Given the description of an element on the screen output the (x, y) to click on. 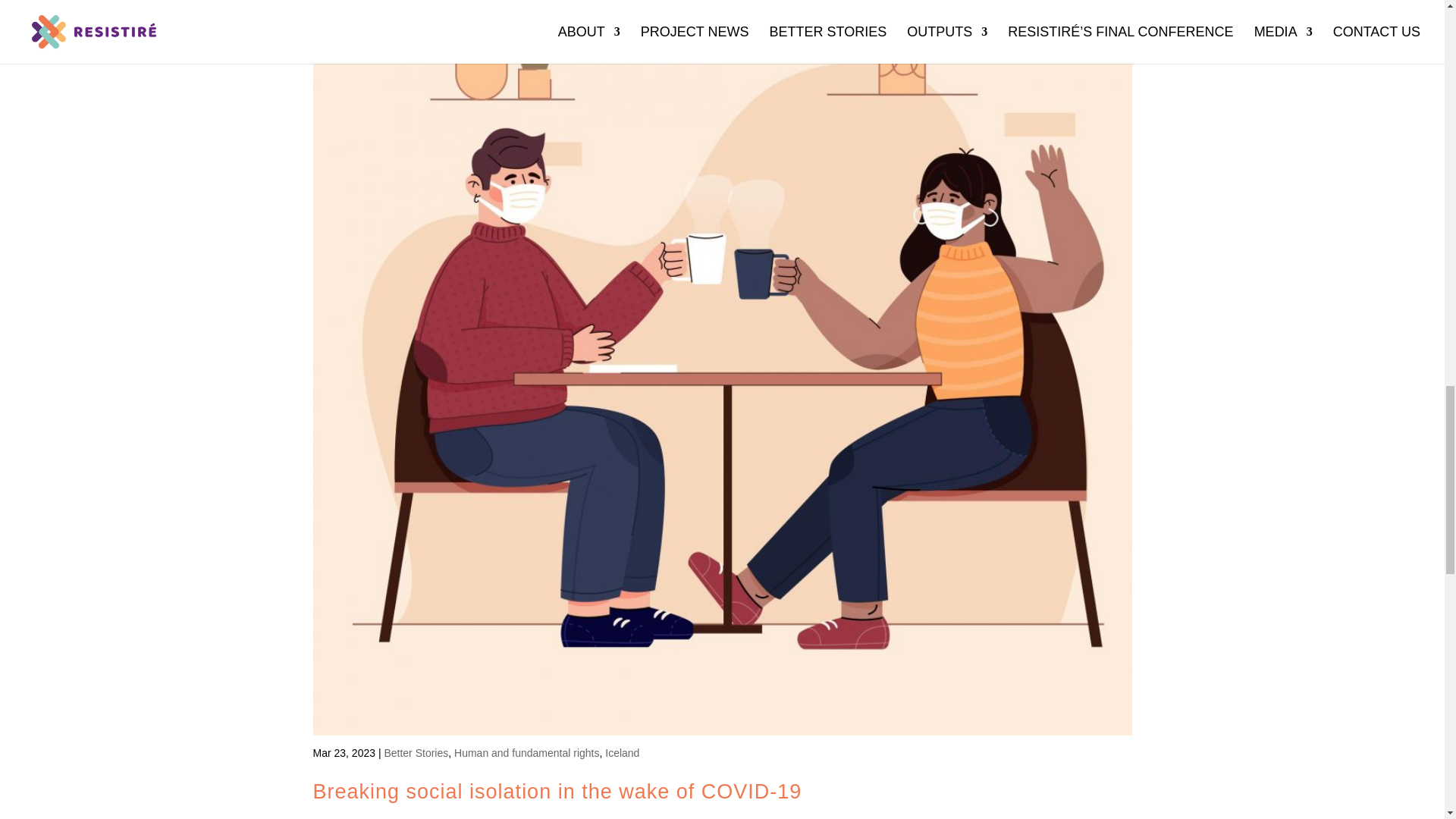
Human and fundamental rights (526, 752)
Better Stories (416, 752)
Iceland (622, 752)
Breaking social isolation in the wake of COVID-19 (557, 791)
